Given the description of an element on the screen output the (x, y) to click on. 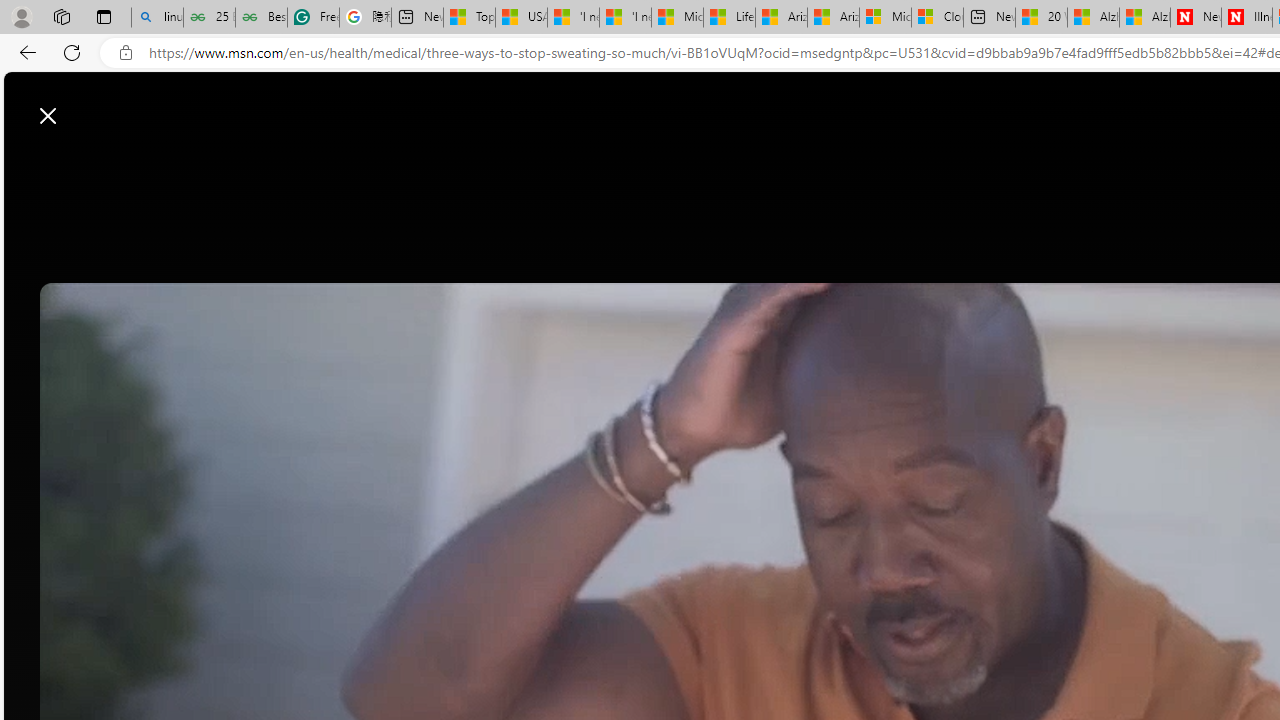
Lifestyle - MSN (729, 17)
Skip to footer (82, 105)
Discover (375, 162)
Web search (731, 105)
USA TODAY - MSN (520, 17)
Best SSL Certificates Provider in India - GeeksforGeeks (260, 17)
Following (465, 162)
Skip to content (86, 105)
Watch (541, 162)
Top Stories - MSN (469, 17)
Following (463, 162)
